Given the description of an element on the screen output the (x, y) to click on. 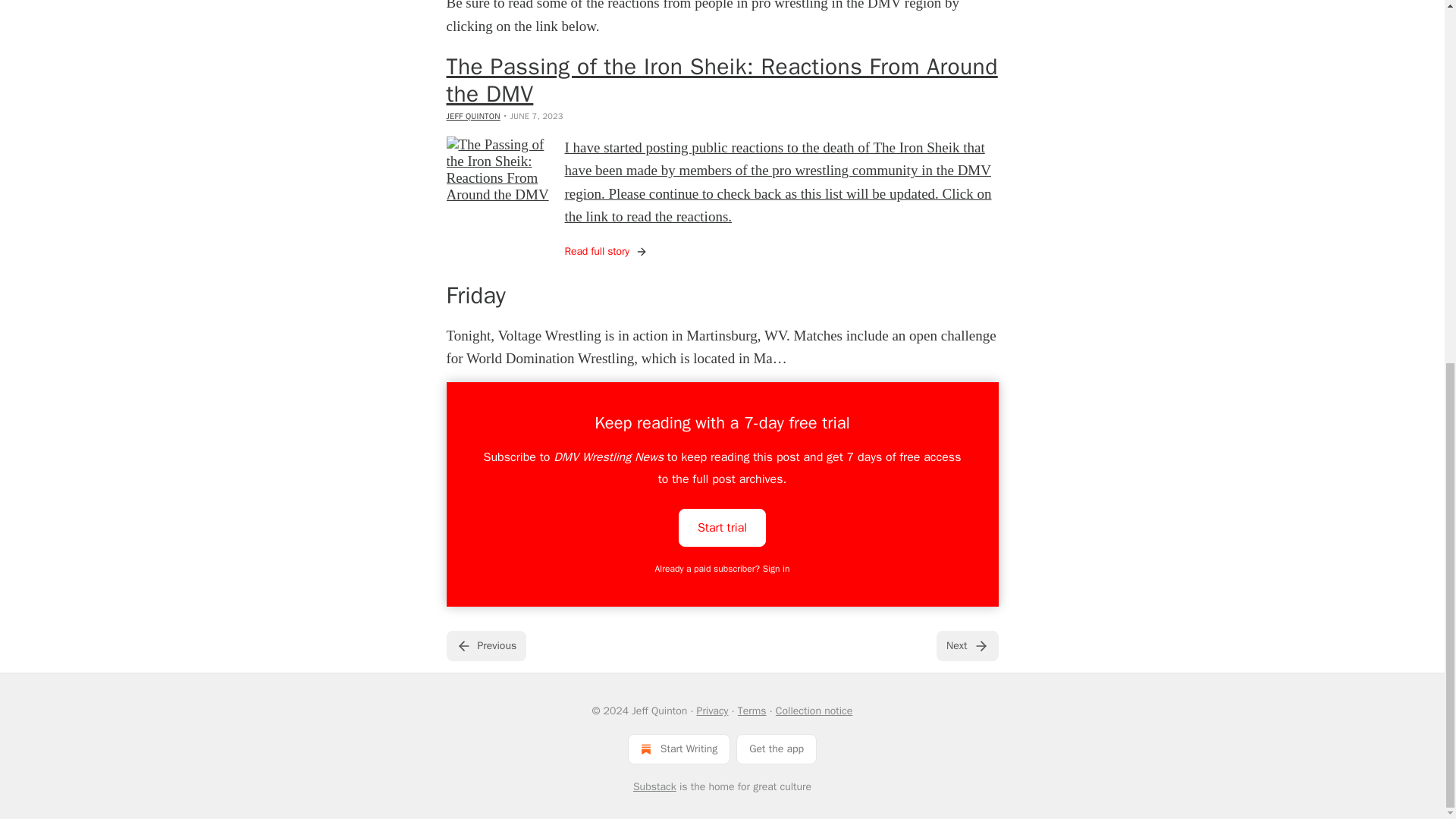
Start trial (721, 527)
Read full story (605, 251)
Start trial (721, 526)
Start Writing (678, 748)
Privacy (713, 710)
Already a paid subscriber? Sign in (722, 568)
JEFF QUINTON (472, 115)
Collection notice (813, 710)
Terms (752, 710)
Previous (485, 645)
Next (966, 645)
The Passing of the Iron Sheik: Reactions From Around the DMV (721, 80)
